Given the description of an element on the screen output the (x, y) to click on. 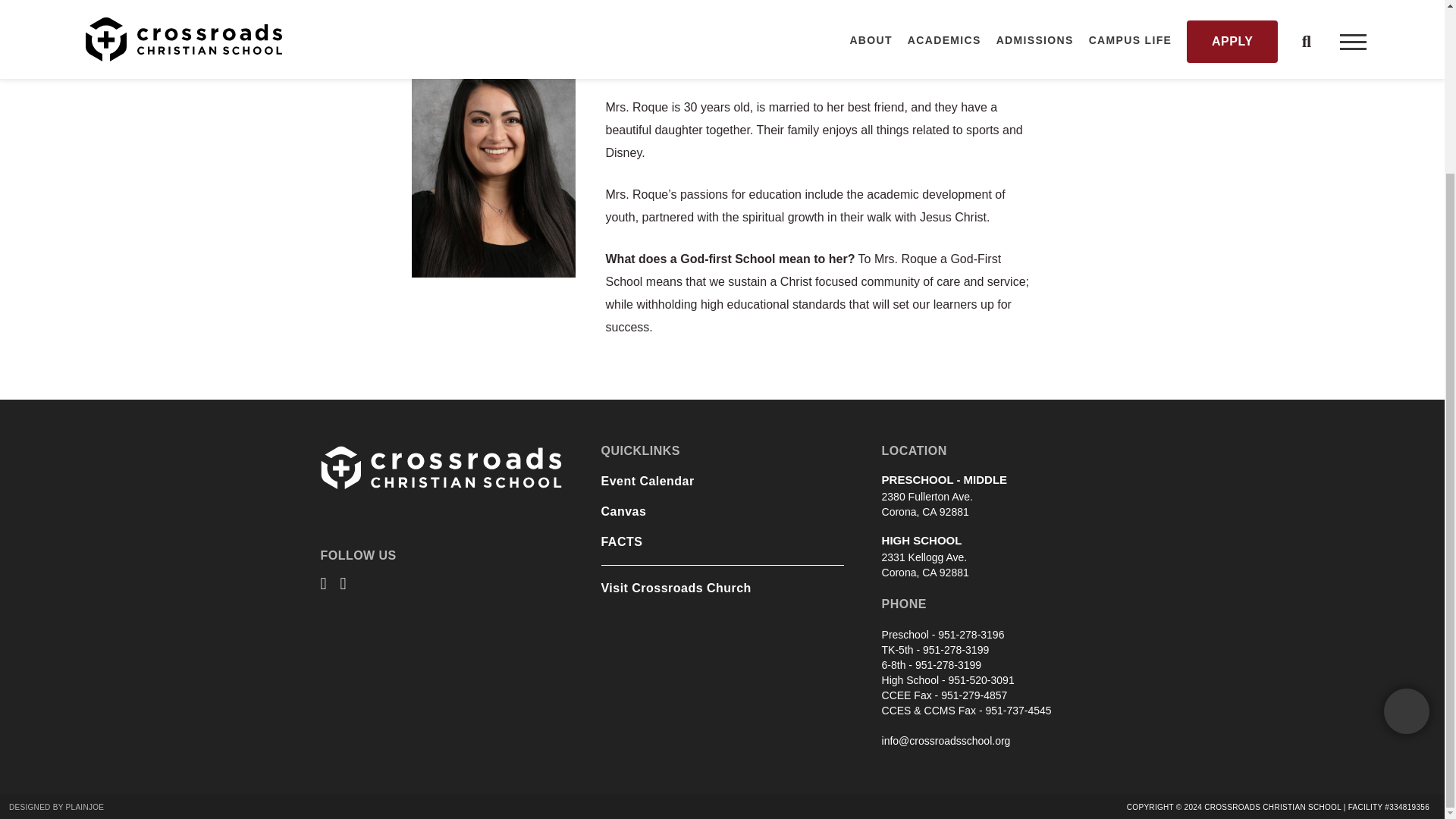
Designed by PlainJoe (55, 807)
Share This Page (1406, 501)
